Given the description of an element on the screen output the (x, y) to click on. 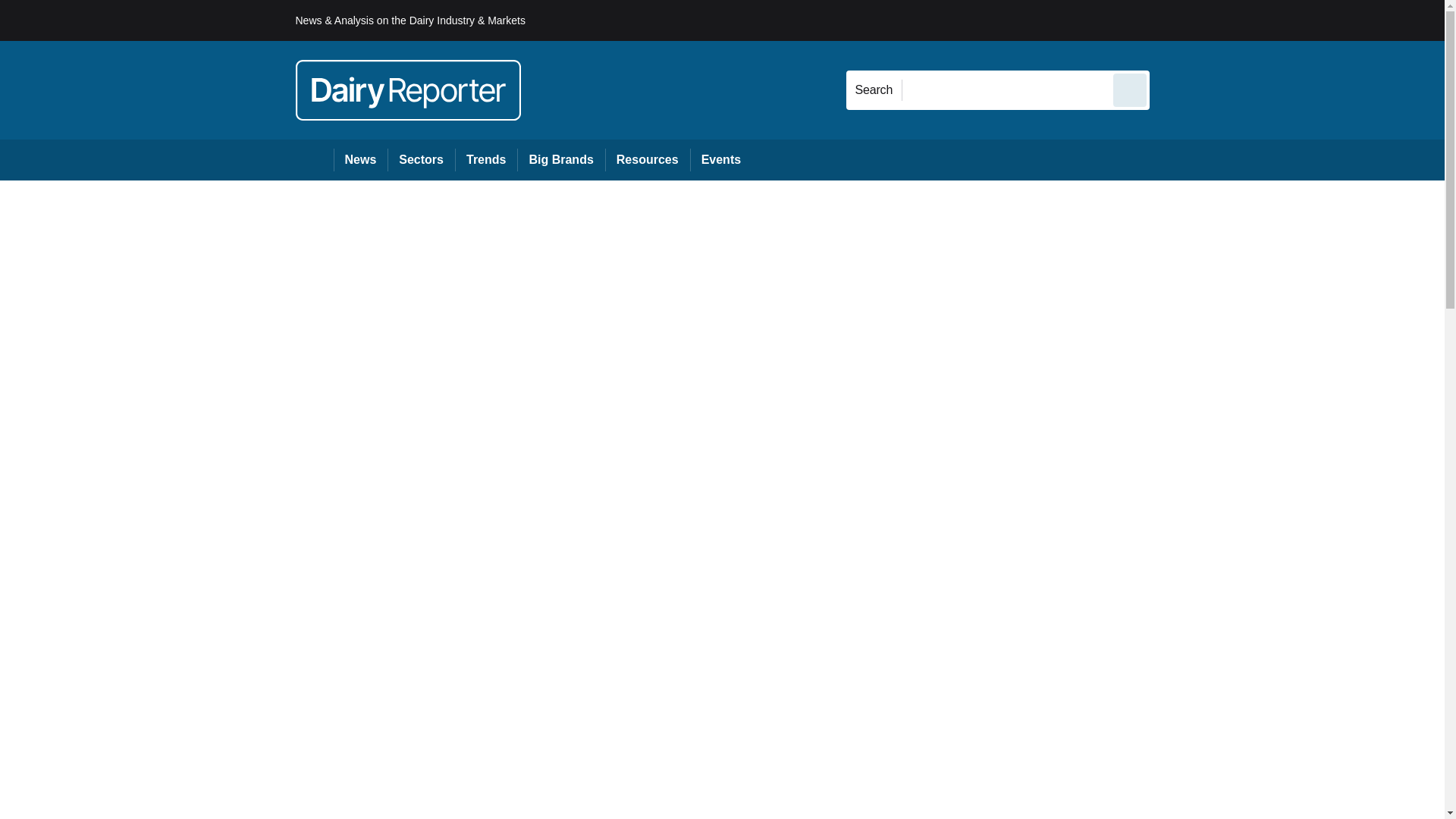
DairyReporter (408, 89)
Sectors (420, 159)
Home (313, 159)
Send (1129, 89)
Sign in (1171, 20)
REGISTER (1250, 20)
News (360, 159)
Send (1129, 90)
My account (1256, 20)
Home (314, 159)
